Given the description of an element on the screen output the (x, y) to click on. 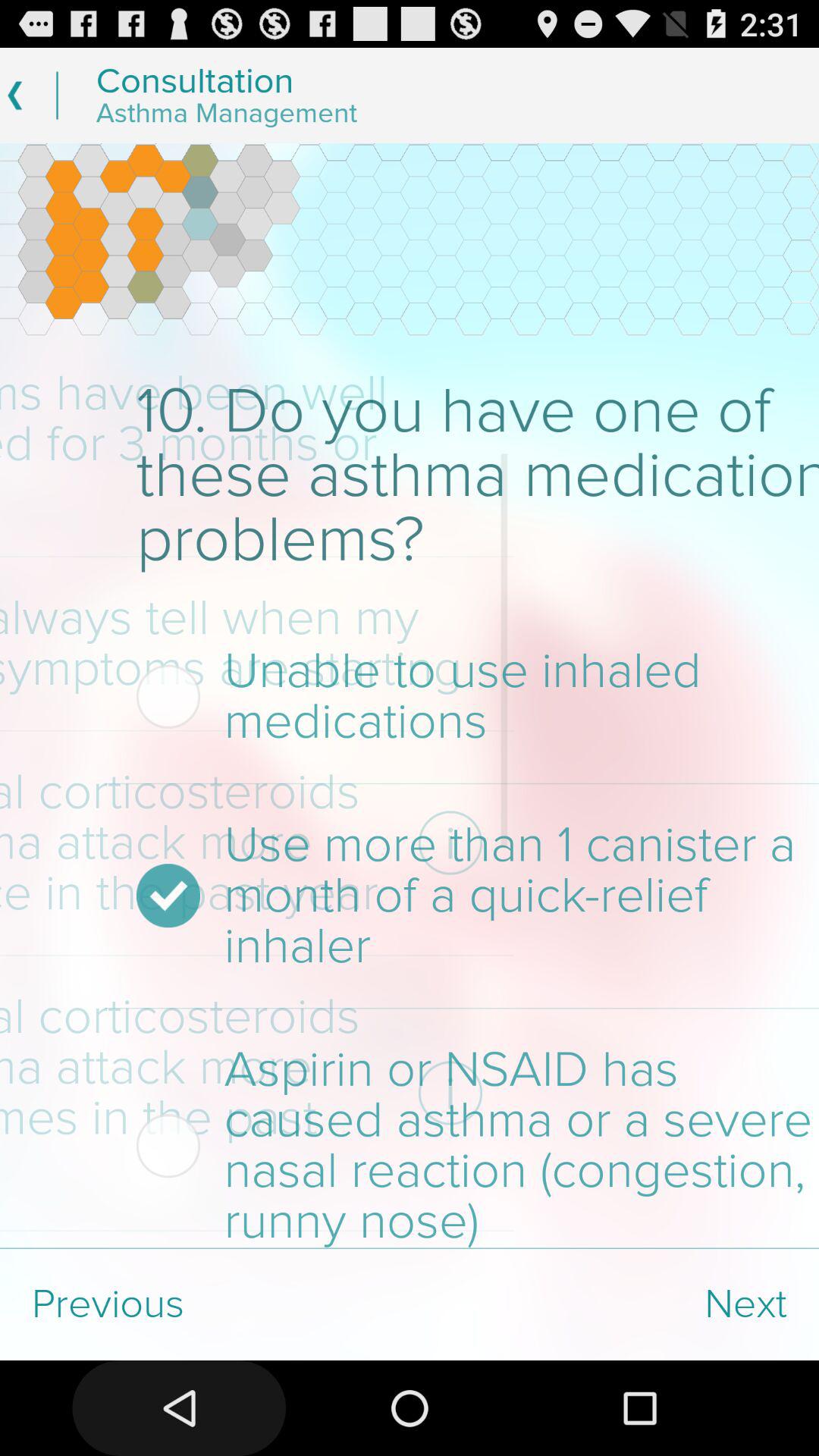
open the next at the bottom right corner (614, 1304)
